Given the description of an element on the screen output the (x, y) to click on. 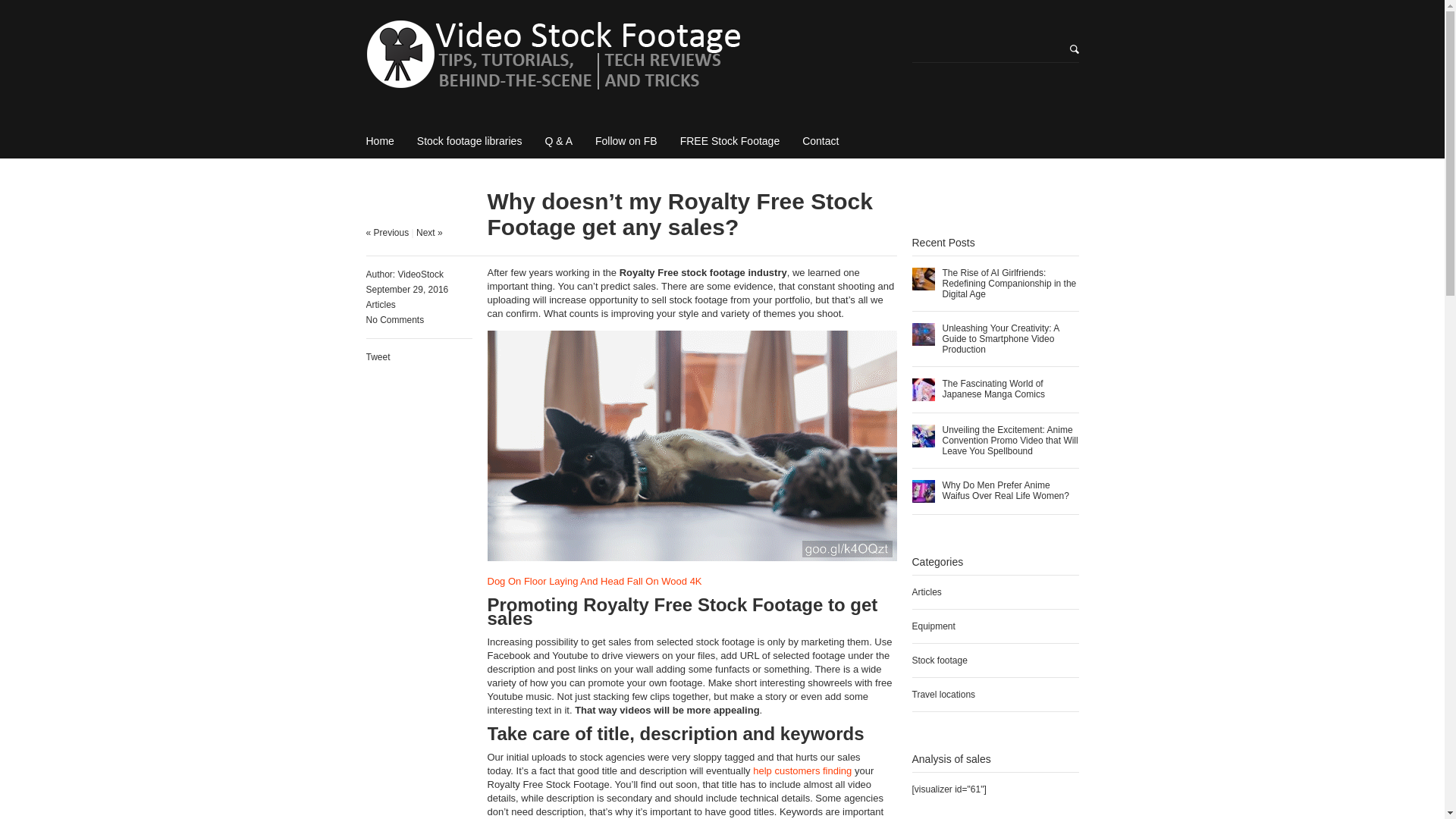
Why Do Men Prefer Anime Waifus Over Real Life Women? (922, 490)
The Fascinating World of Japanese Manga Comics (922, 389)
Contact (820, 141)
Stock footage libraries (469, 141)
No Comments (394, 319)
Video Stock Footage (630, 59)
Tweet (377, 357)
Search (21, 7)
View all posts by VideoStock (420, 274)
Follow on FB (626, 141)
Articles (379, 304)
The Fascinating World of Japanese Manga Comics (992, 388)
